Given the description of an element on the screen output the (x, y) to click on. 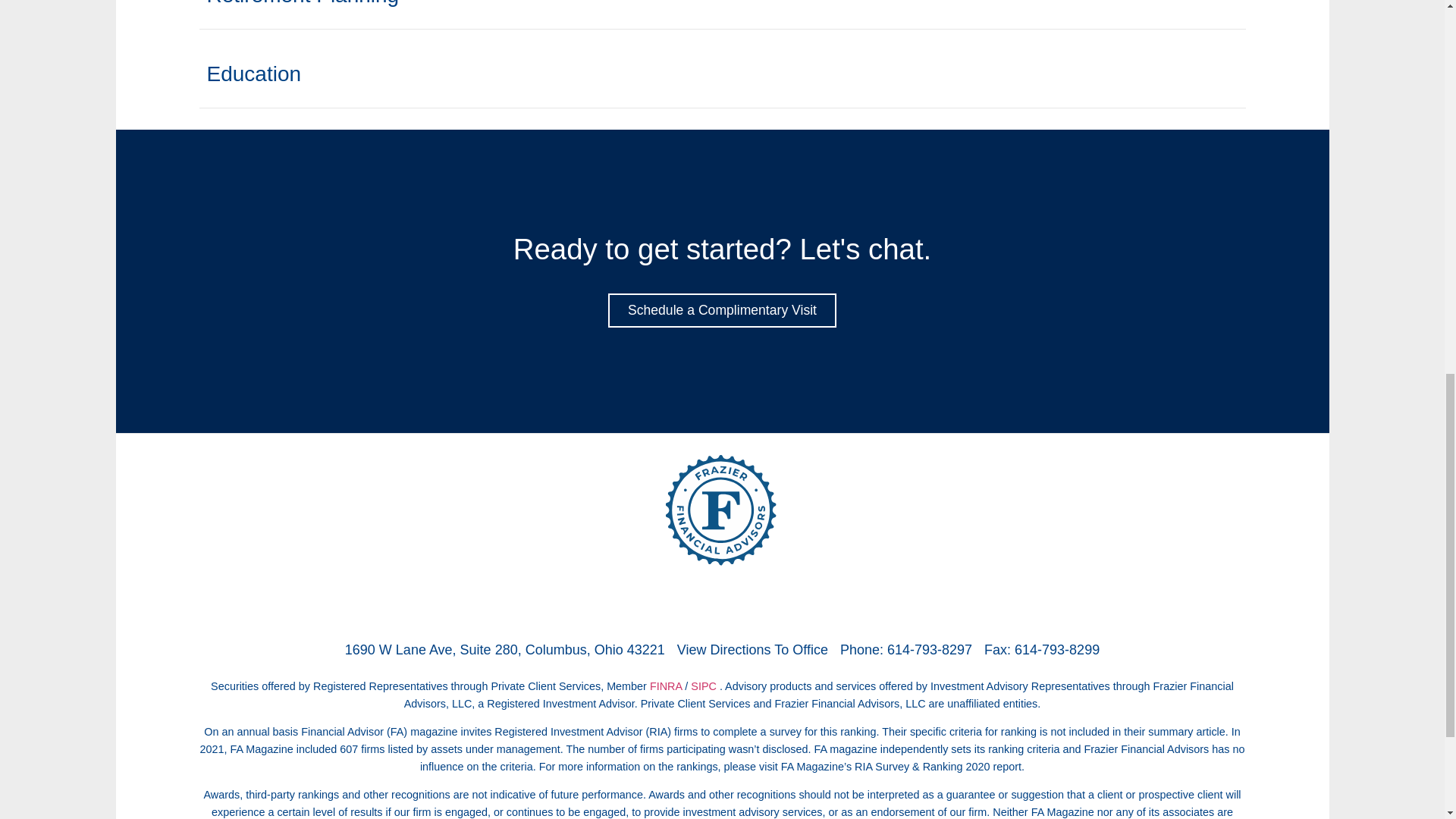
Phone: 614-793-8297 (906, 649)
Instagram (742, 603)
1690 W Lane Ave, Suite 280, Columbus, Ohio 43221 (505, 649)
Linkedin (701, 603)
Facebook (659, 603)
View Directions To Office (752, 649)
Youtube (784, 603)
Schedule a Complimentary Visit (721, 310)
